Given the description of an element on the screen output the (x, y) to click on. 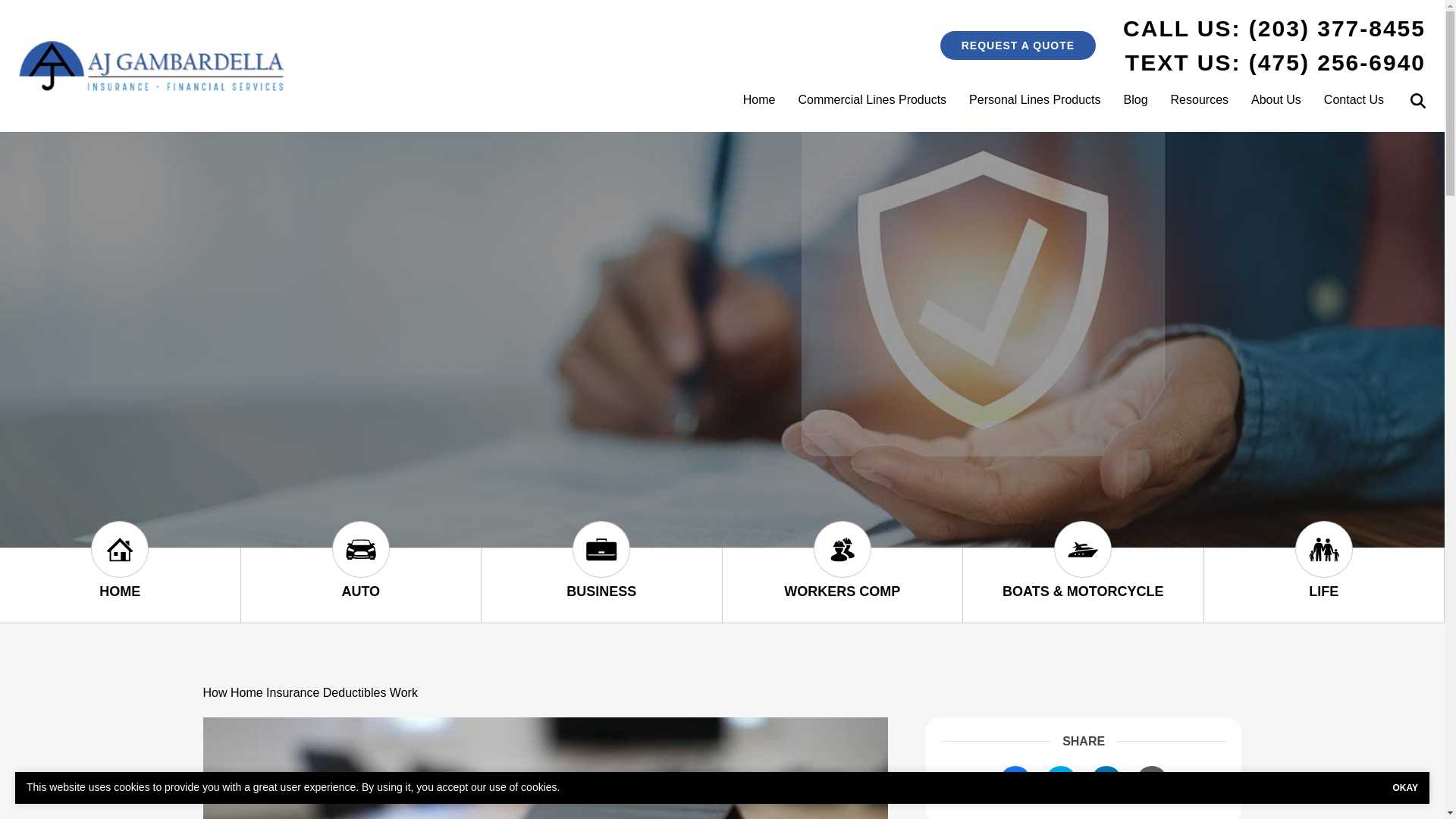
Commercial Lines Products (872, 99)
REQUEST A QUOTE (1018, 45)
Home (759, 99)
